Given the description of an element on the screen output the (x, y) to click on. 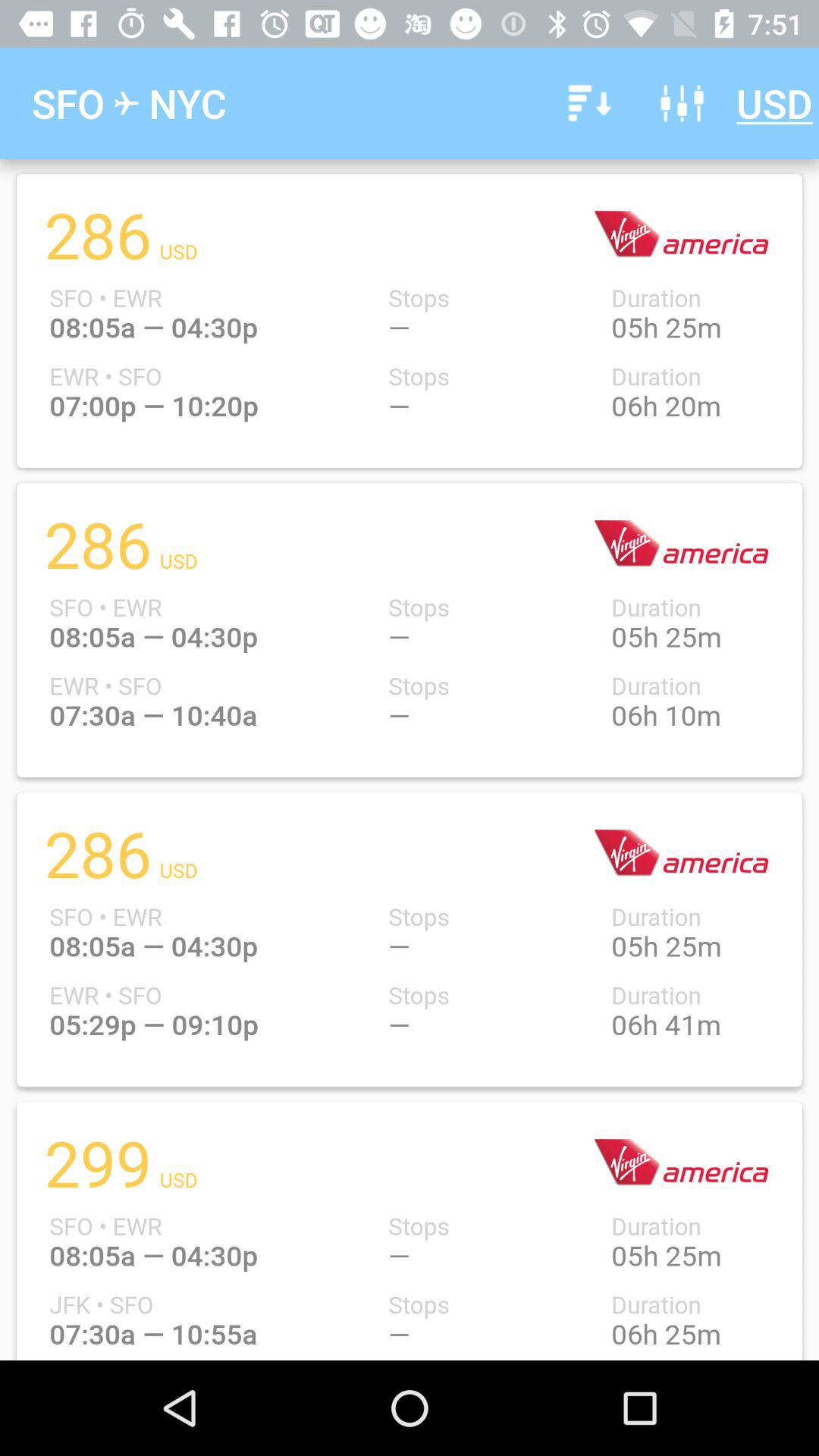
click on icon on the left side of usd (682, 103)
